Given the description of an element on the screen output the (x, y) to click on. 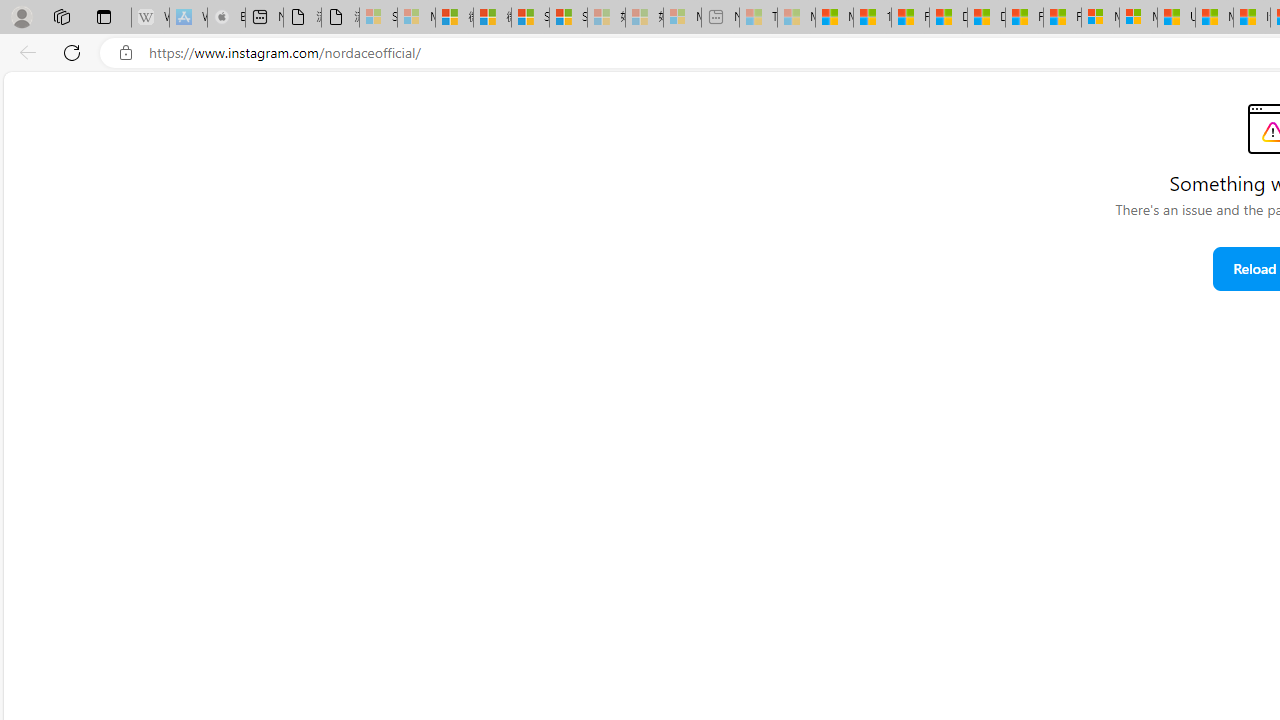
Sign in to your Microsoft account - Sleeping (377, 17)
Buy iPad - Apple - Sleeping (225, 17)
Food and Drink - MSN (910, 17)
US Heat Deaths Soared To Record High Last Year (1176, 17)
